Given the description of an element on the screen output the (x, y) to click on. 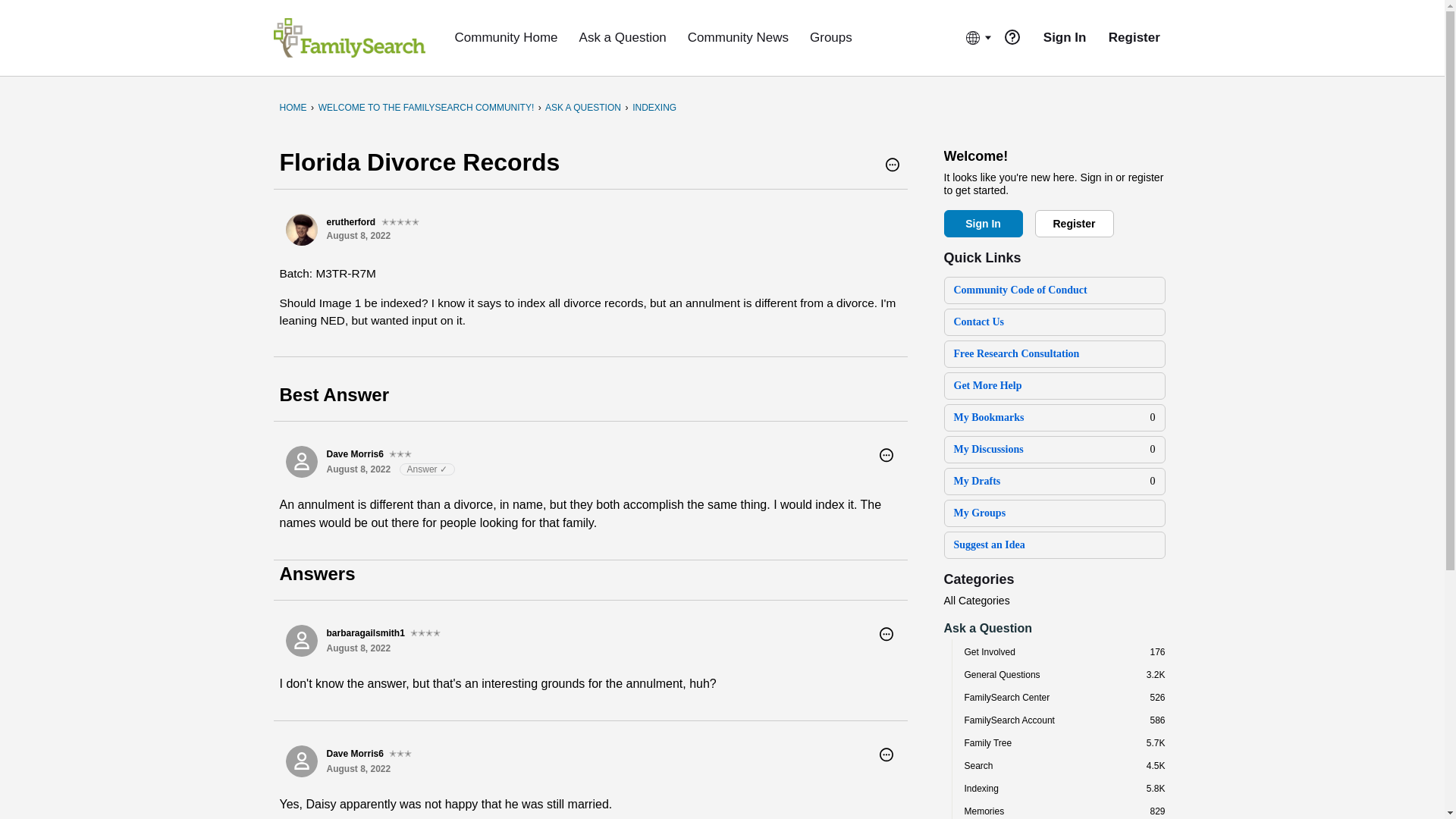
August 8, 2022 5:25AM (358, 235)
Level 4 (425, 632)
barbaragailsmith1 (301, 640)
August 8, 2022 3:48PM (358, 469)
Dave Morris6 (301, 761)
Level 3 (400, 753)
notice-question (1012, 36)
August 8, 2022 6:06PM (358, 768)
August 8, 2022 3:34PM (358, 647)
Dave Morris6 (301, 461)
Level 5 (400, 222)
erutherford (301, 229)
Level 3 (400, 454)
